Given the description of an element on the screen output the (x, y) to click on. 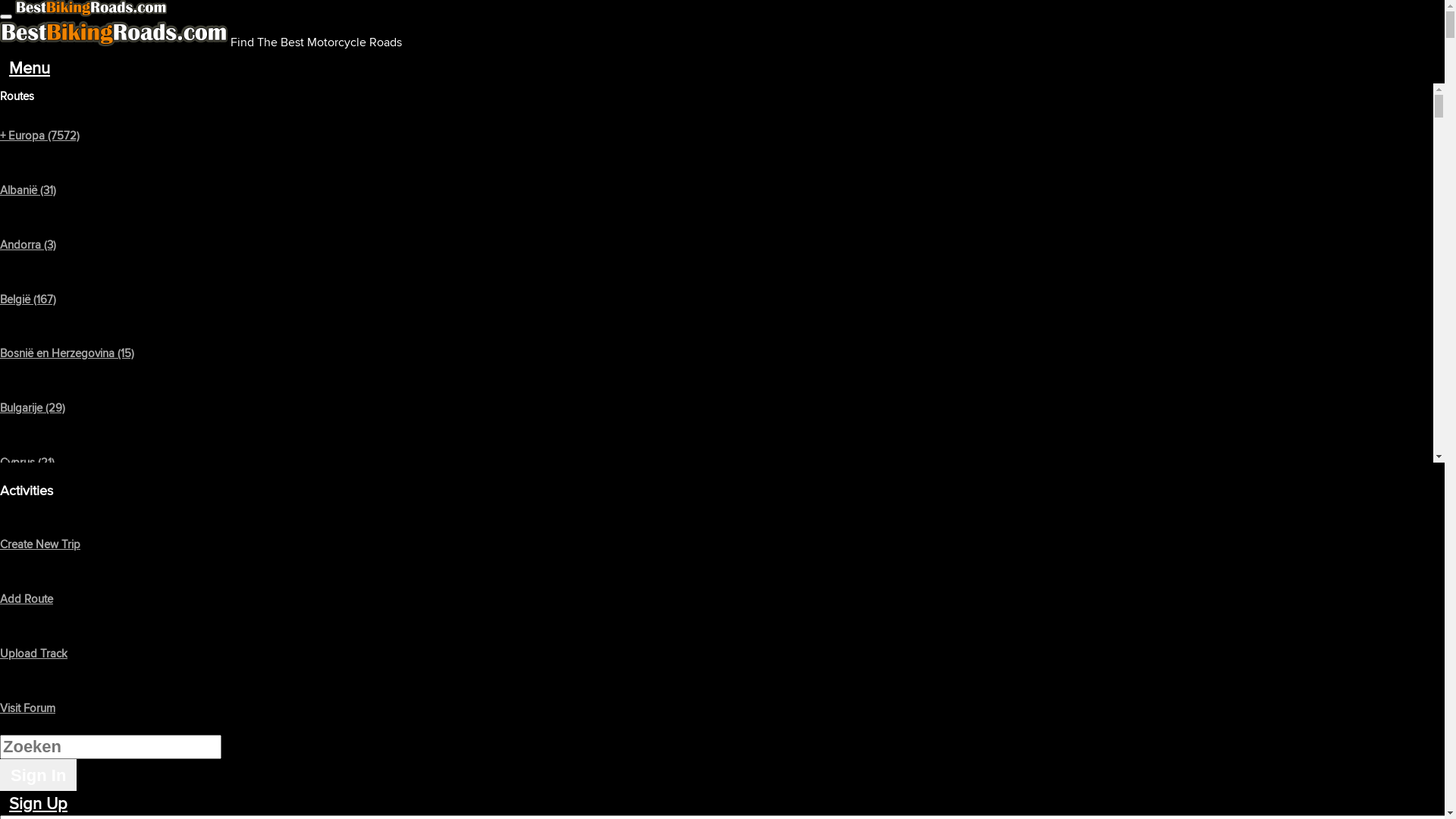
Visit Forum Element type: text (27, 707)
Griekenland (143) Element type: text (42, 789)
Upload Track Element type: text (33, 653)
Andorra (3) Element type: text (28, 244)
Denemarken (26) Element type: text (43, 516)
Create New Trip Element type: text (40, 544)
Menu Element type: text (29, 66)
MT - Custer/Fallon/PowderRiver/Carter (2) Element type: text (721, 206)
Finland (169) Element type: text (31, 680)
Cyprus (21) Element type: text (27, 462)
+ Europa (7572) Element type: text (39, 135)
Voeg een motorrit toe Element type: hover (22, 757)
Add Route Element type: text (26, 598)
Duitsland (680) Element type: text (37, 571)
Sign In Element type: text (38, 774)
Top 10 Motorcycle Rides Montana Element type: text (221, 176)
Estland (71) Element type: text (27, 625)
Bulgarije (29) Element type: text (32, 407)
Advertisement Element type: hover (461, 409)
Frankrijk (661) Element type: text (34, 735)
+ Browse Sub Regions Element type: text (66, 176)
